Given the description of an element on the screen output the (x, y) to click on. 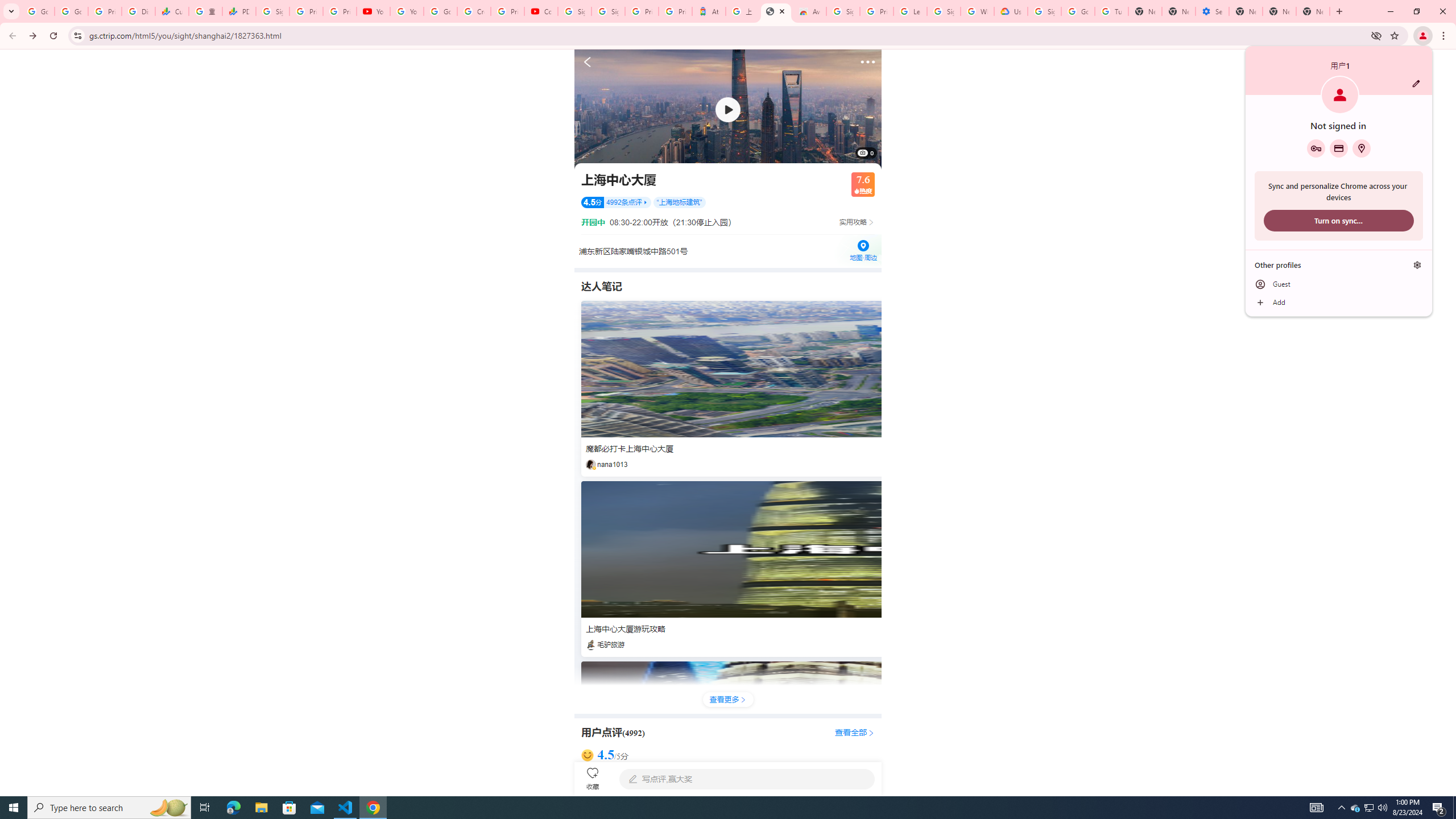
Privacy Checkup (339, 11)
Notification Chevron (1341, 807)
Google Password Manager (1315, 148)
To get missing image descriptions, open the context menu. (727, 109)
Search highlights icon opens search home window (167, 807)
Visual Studio Code - 1 running window (345, 807)
YouTube (406, 11)
Settings - Addresses and more (1212, 11)
PDD Holdings Inc - ADR (PDD) Price & News - Google Finance (238, 11)
